Given the description of an element on the screen output the (x, y) to click on. 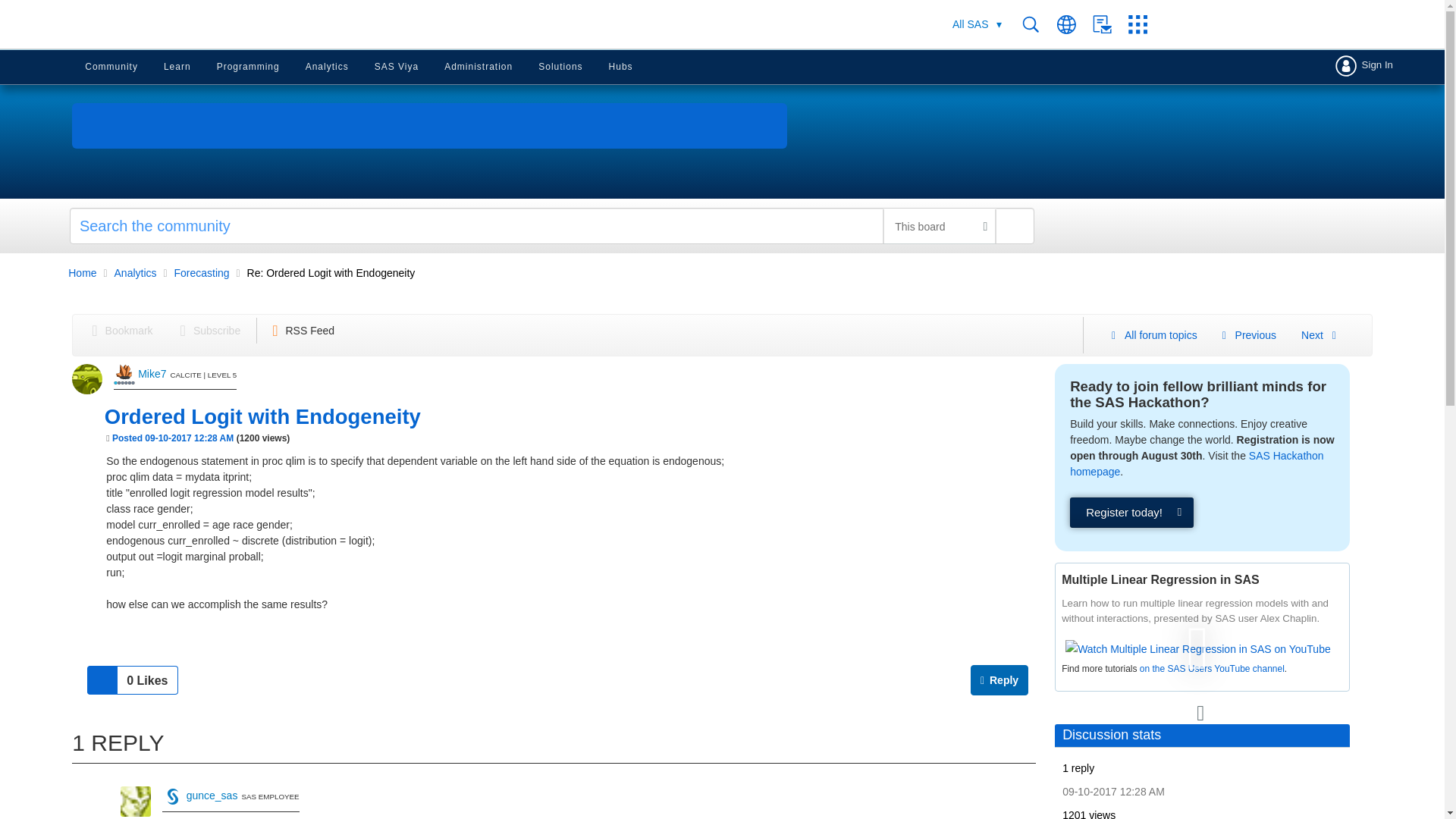
Search (1039, 24)
Software (970, 24)
Search (1015, 226)
SAS Sites (1142, 24)
Search Granularity (938, 226)
All SAS (976, 24)
Search (1015, 226)
Worldwide Sites (1075, 24)
Search (551, 226)
Contact Us (1110, 24)
